Given the description of an element on the screen output the (x, y) to click on. 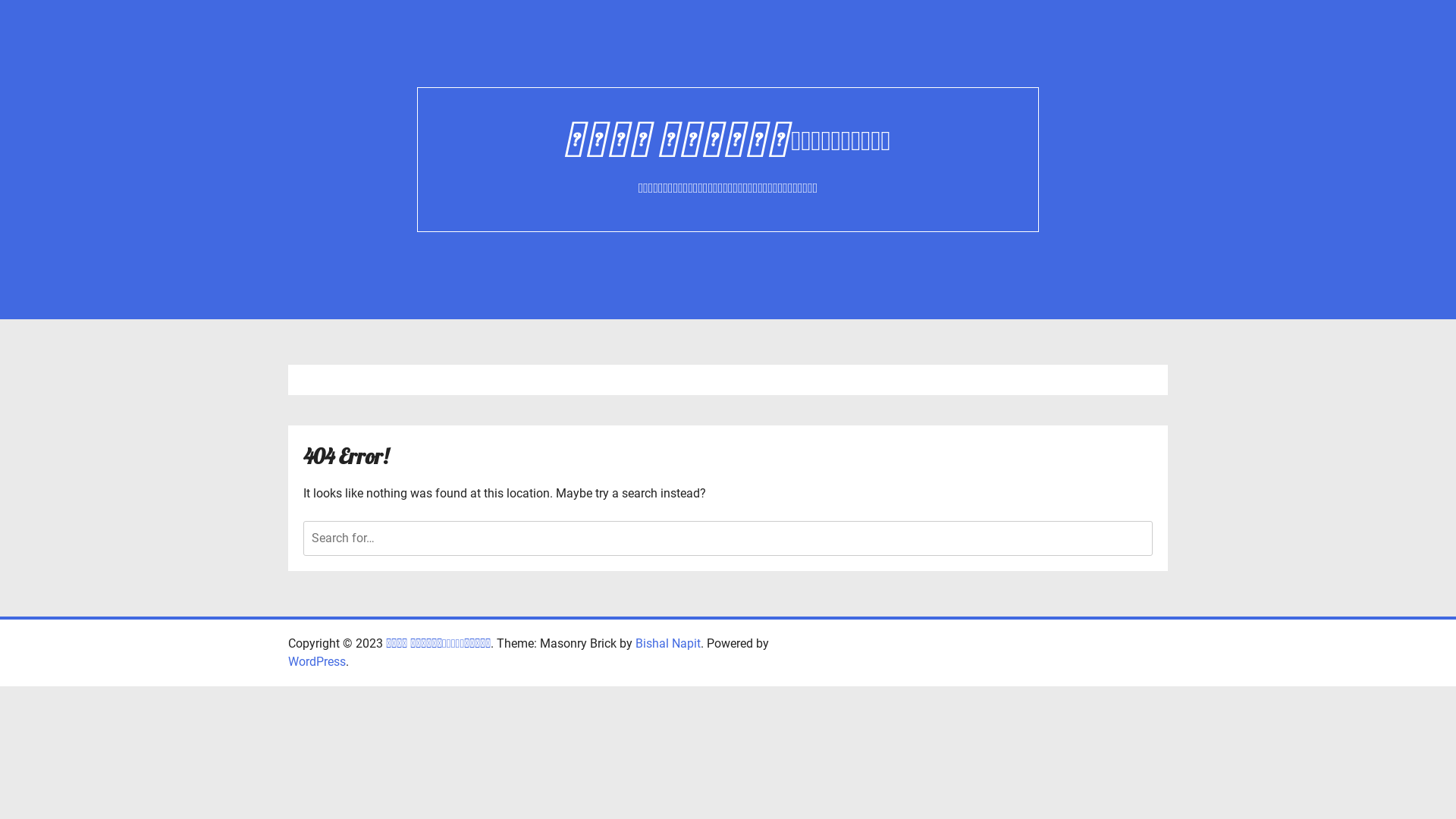
Bishal Napit Element type: text (667, 643)
Search for: Element type: hover (727, 537)
WordPress Element type: text (316, 661)
